Given the description of an element on the screen output the (x, y) to click on. 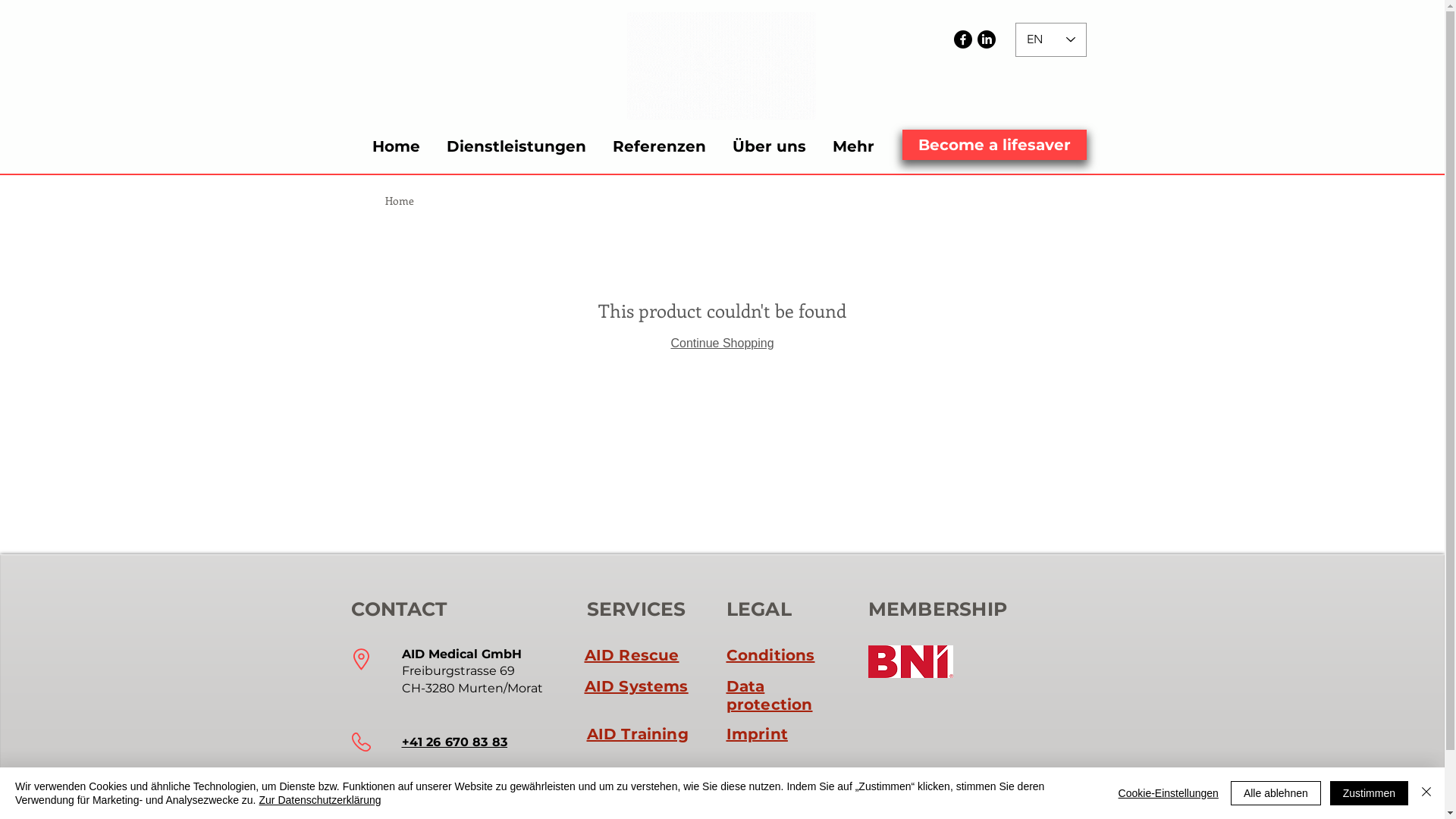
Continue Shopping Element type: text (721, 342)
Become a lifesaver Element type: text (994, 144)
AID Rescue Element type: text (630, 655)
AID Training Element type: text (637, 733)
Alle ablehnen Element type: text (1275, 793)
Zustimmen Element type: text (1369, 793)
Conditions Element type: text (770, 655)
Data protection Element type: text (769, 695)
Home Element type: text (395, 146)
AID Medical Logo Element type: hover (720, 65)
Home Element type: text (399, 200)
Imprint Element type: text (756, 733)
service@aidmedical.ch Element type: text (476, 779)
+41 26 670 83 83 Element type: text (454, 741)
Referenzen Element type: text (658, 146)
AID Systems Element type: text (635, 686)
